Given the description of an element on the screen output the (x, y) to click on. 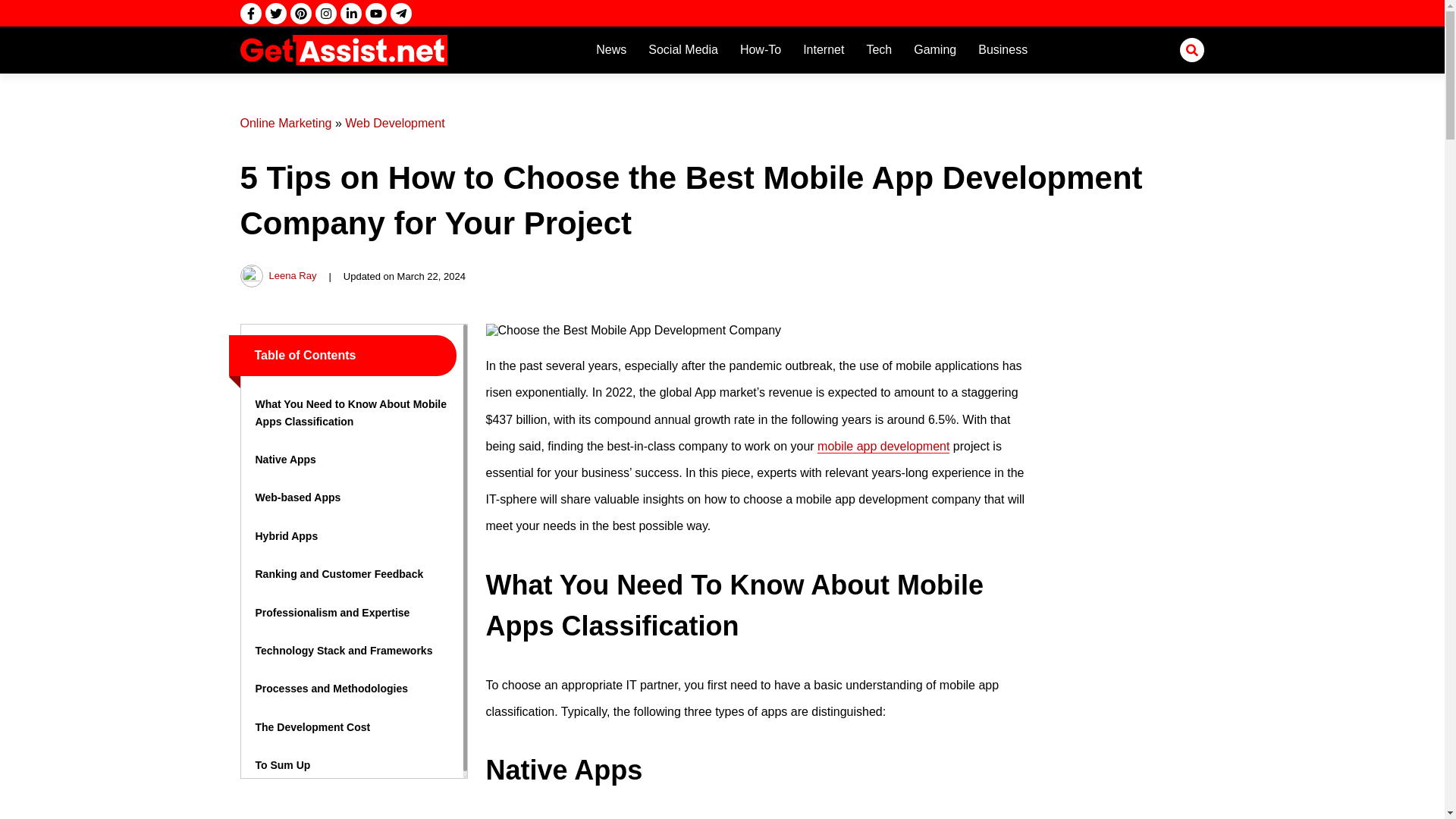
How-To (760, 49)
Hybrid Apps (285, 535)
Gaming (934, 49)
Internet (823, 49)
Native Apps (284, 459)
To Sum Up (282, 765)
Business (1002, 49)
News (610, 49)
The Development Cost (311, 727)
Tech (879, 49)
